Given the description of an element on the screen output the (x, y) to click on. 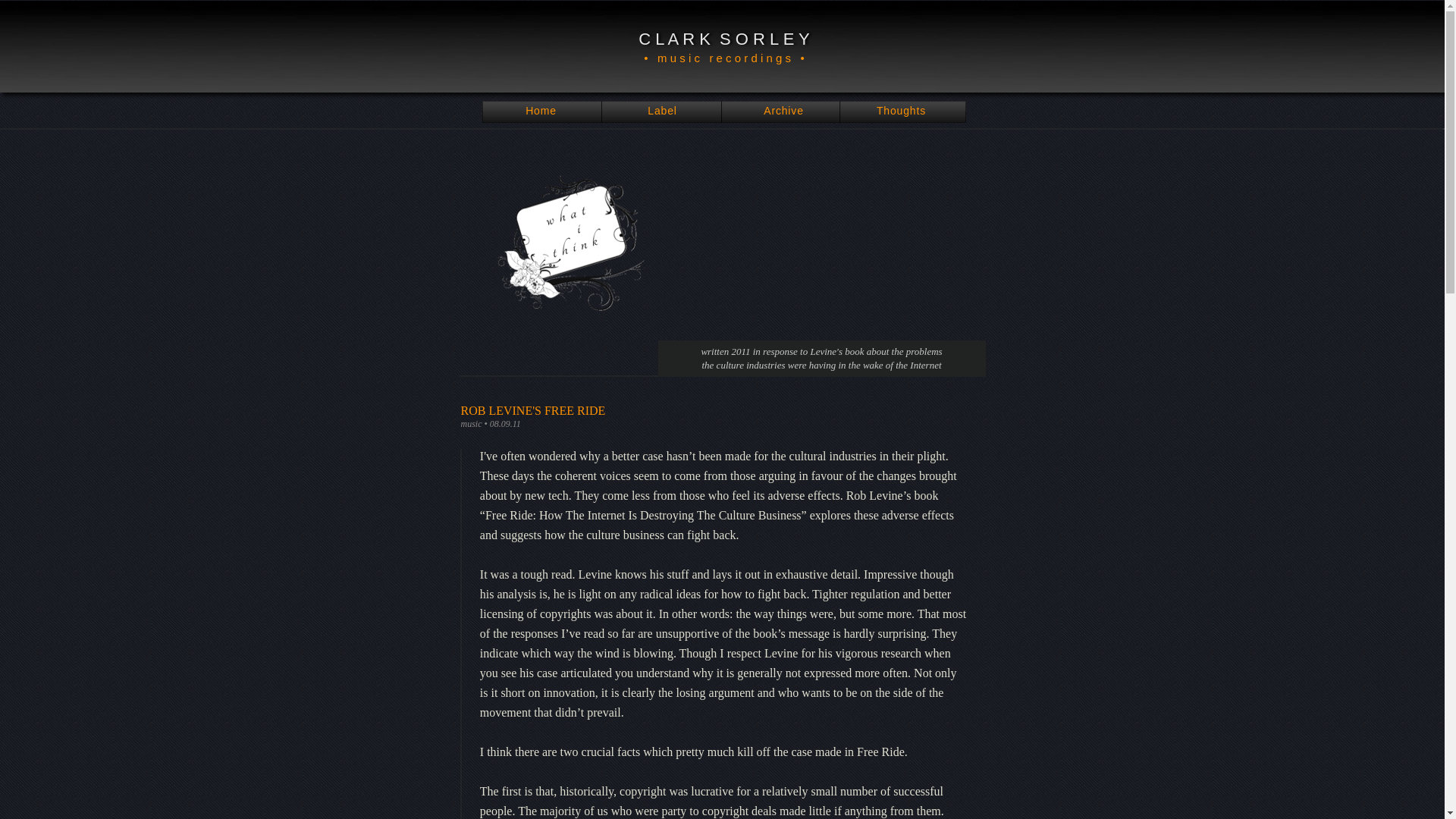
C L A R K  S O R L E Y (724, 38)
Label (662, 110)
Thoughts (901, 110)
Home (540, 110)
Archive (782, 110)
